Given the description of an element on the screen output the (x, y) to click on. 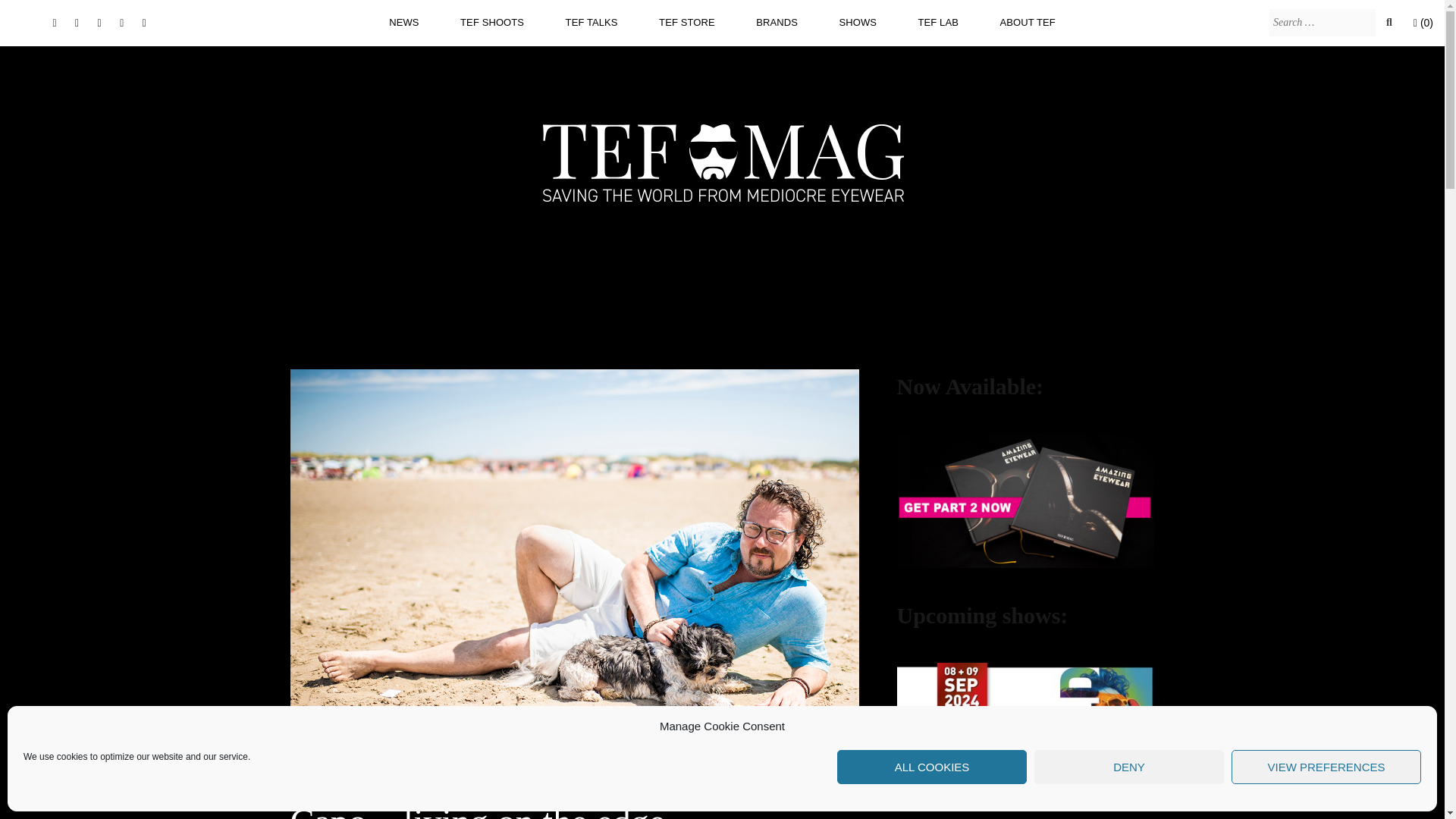
NEWS (403, 22)
TEF STORE (686, 22)
SHOWS (857, 22)
BRANDS (776, 22)
VIEW PREFERENCES (1326, 766)
TEF TALKS (592, 22)
DENY (1128, 766)
ALL COOKIES (931, 766)
TEF SHOOTS (492, 22)
